Given the description of an element on the screen output the (x, y) to click on. 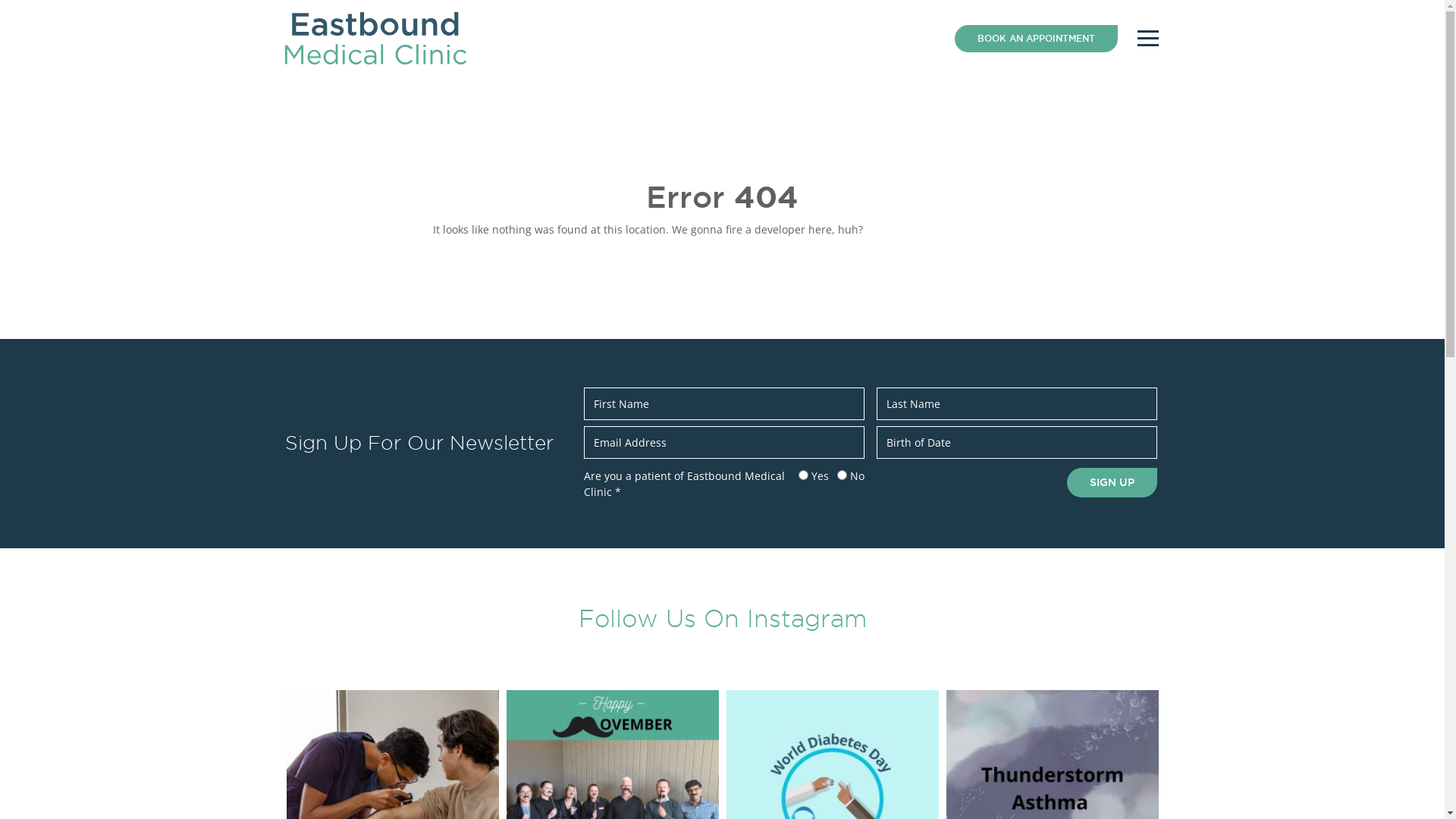
BOOK AN APPOINTMENT Element type: text (1035, 37)
SIGN UP Element type: text (1111, 481)
